Given the description of an element on the screen output the (x, y) to click on. 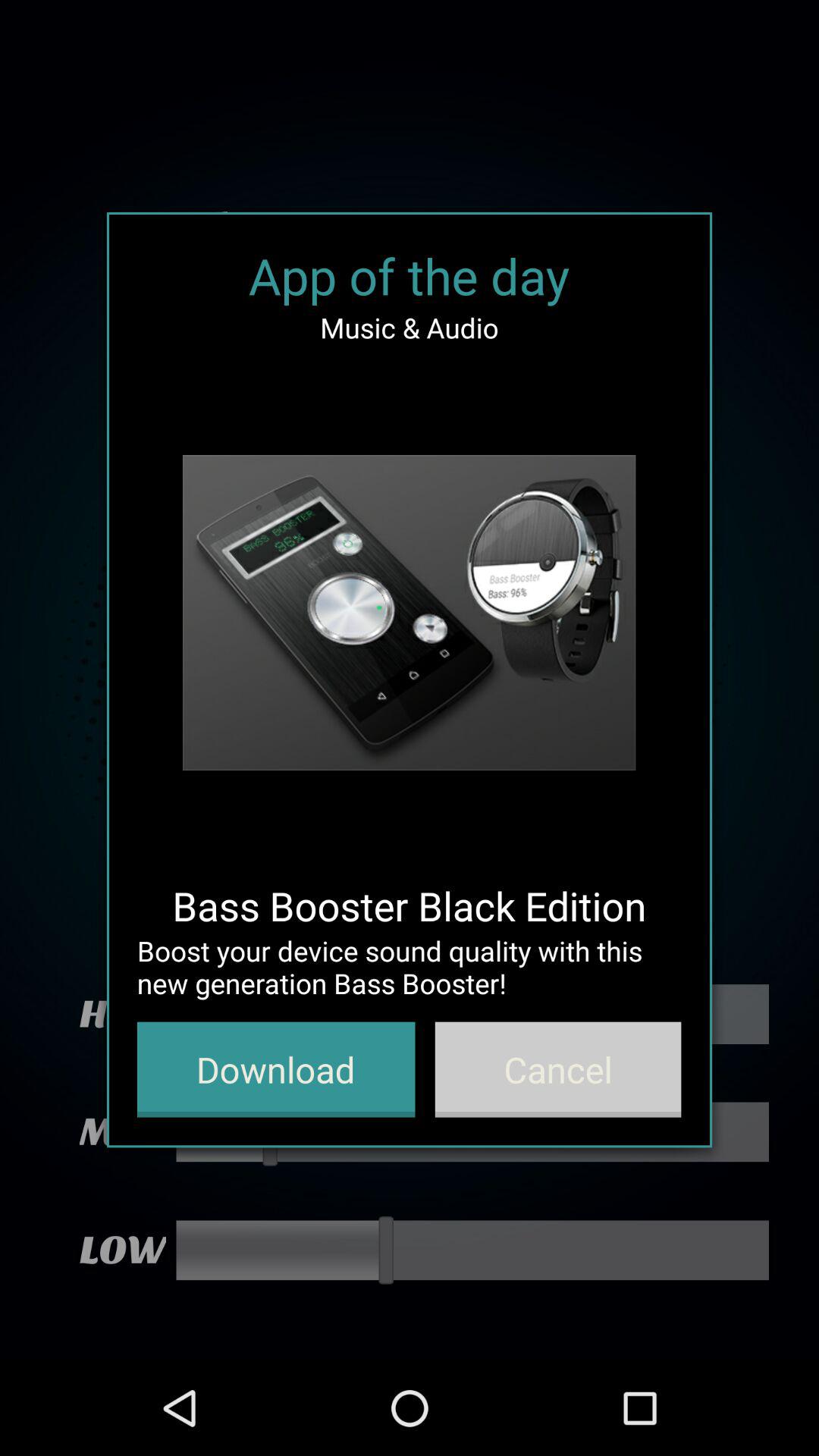
tap the item below music & audio app (408, 612)
